Given the description of an element on the screen output the (x, y) to click on. 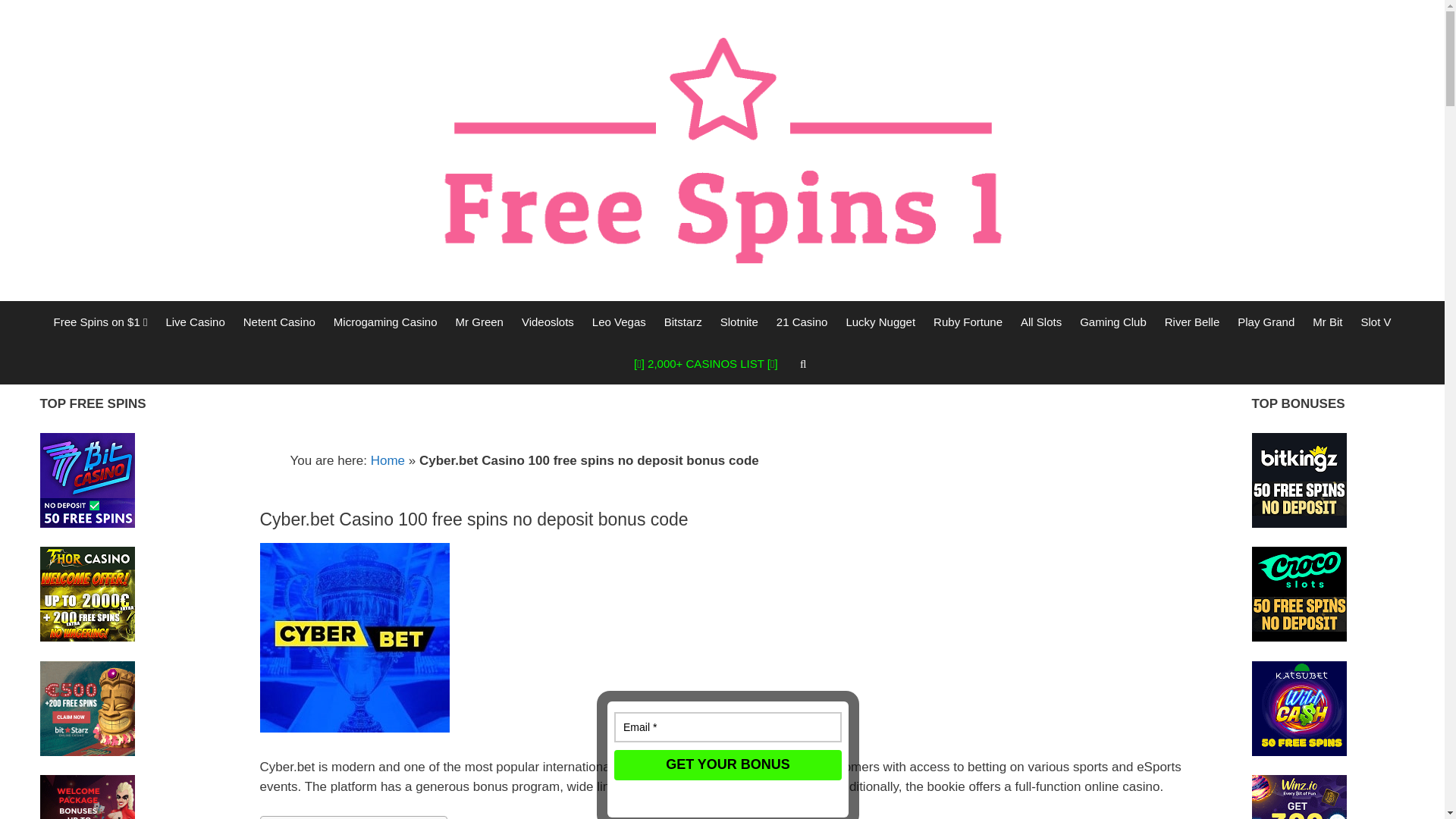
Mr Green (479, 322)
Lucky Nugget (879, 322)
Leo Vegas (619, 322)
Bitstarz (683, 322)
Microgaming Casino (385, 322)
All Slots (1040, 322)
Netent Casino (279, 322)
Videoslots (547, 322)
21 Casino (802, 322)
Ruby Fortune (967, 322)
GET YOUR BONUS (715, 758)
Slotnite (739, 322)
Live Casino (193, 322)
